Given the description of an element on the screen output the (x, y) to click on. 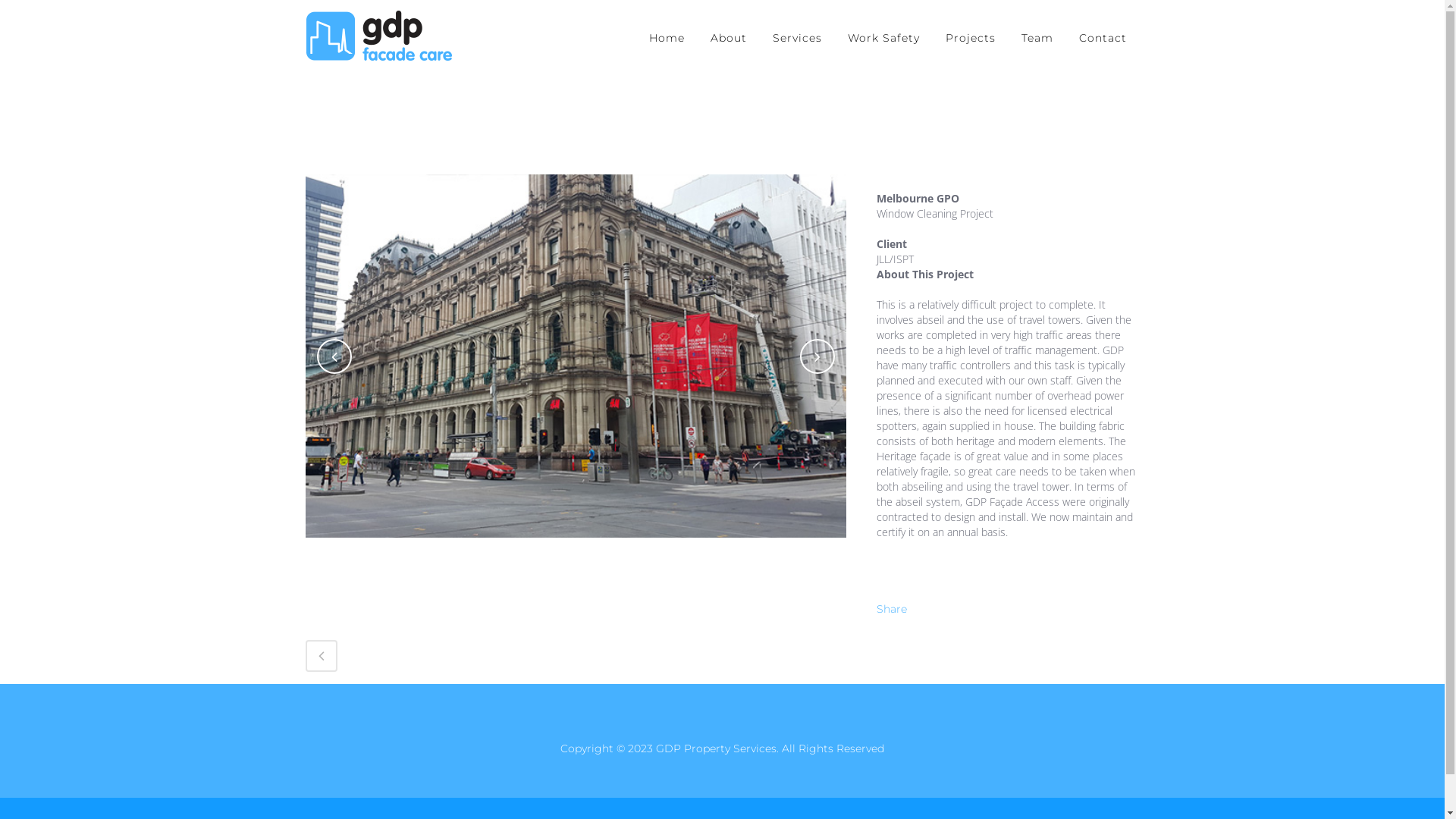
Home Element type: text (665, 37)
Projects Element type: text (970, 37)
Team Element type: text (1037, 37)
About Element type: text (728, 37)
Share Element type: text (891, 608)
Work Safety Element type: text (882, 37)
Services Element type: text (796, 37)
Contact Element type: text (1102, 37)
